Given the description of an element on the screen output the (x, y) to click on. 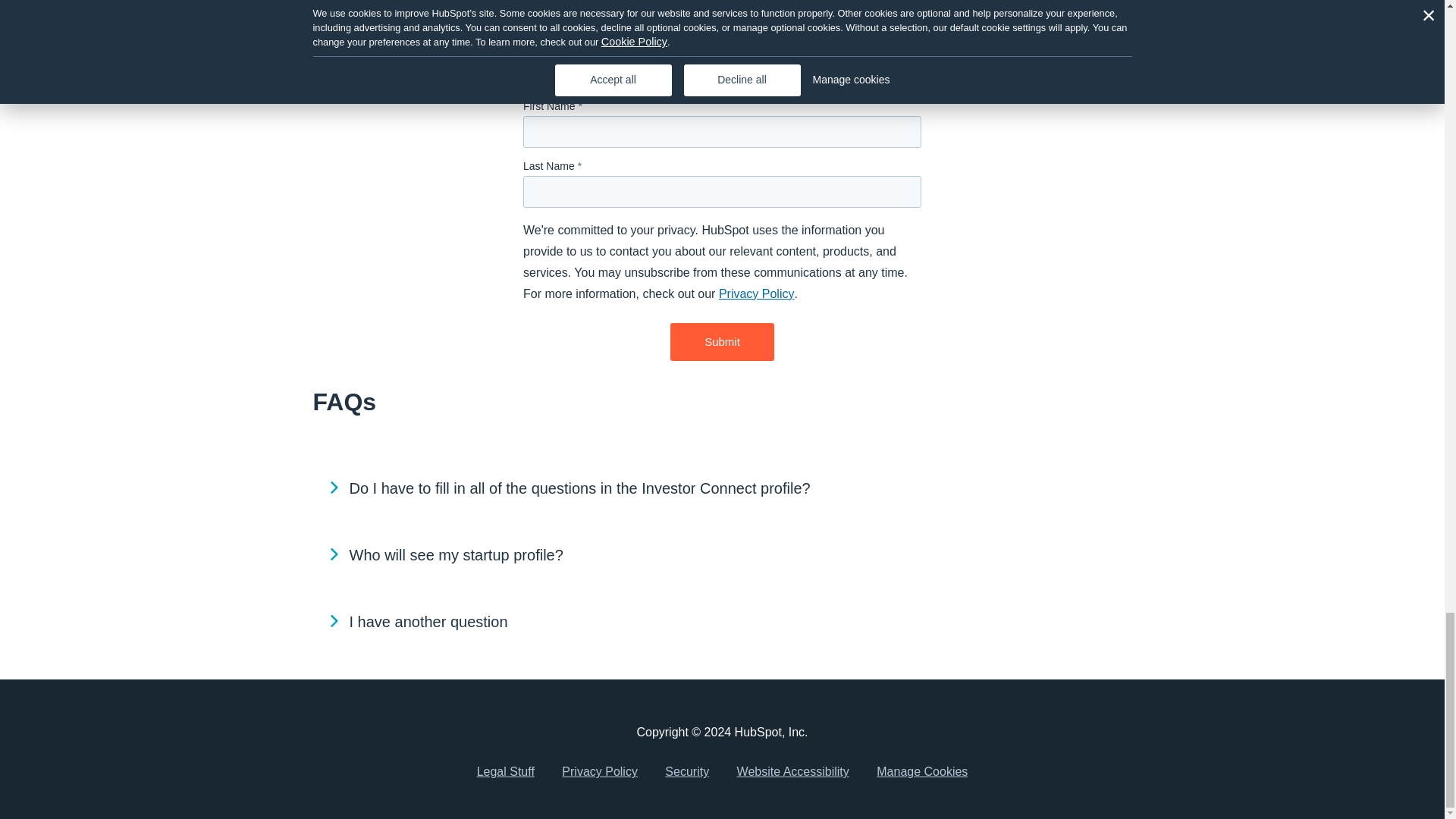
Submit (721, 341)
I have another question (722, 621)
Who will see my startup profile? (722, 554)
Privacy Policy (756, 293)
Submit (721, 341)
Legal Stuff (505, 771)
Security (686, 771)
Privacy Policy (599, 771)
Website Accessibility (793, 771)
Manage Cookies (921, 771)
